Given the description of an element on the screen output the (x, y) to click on. 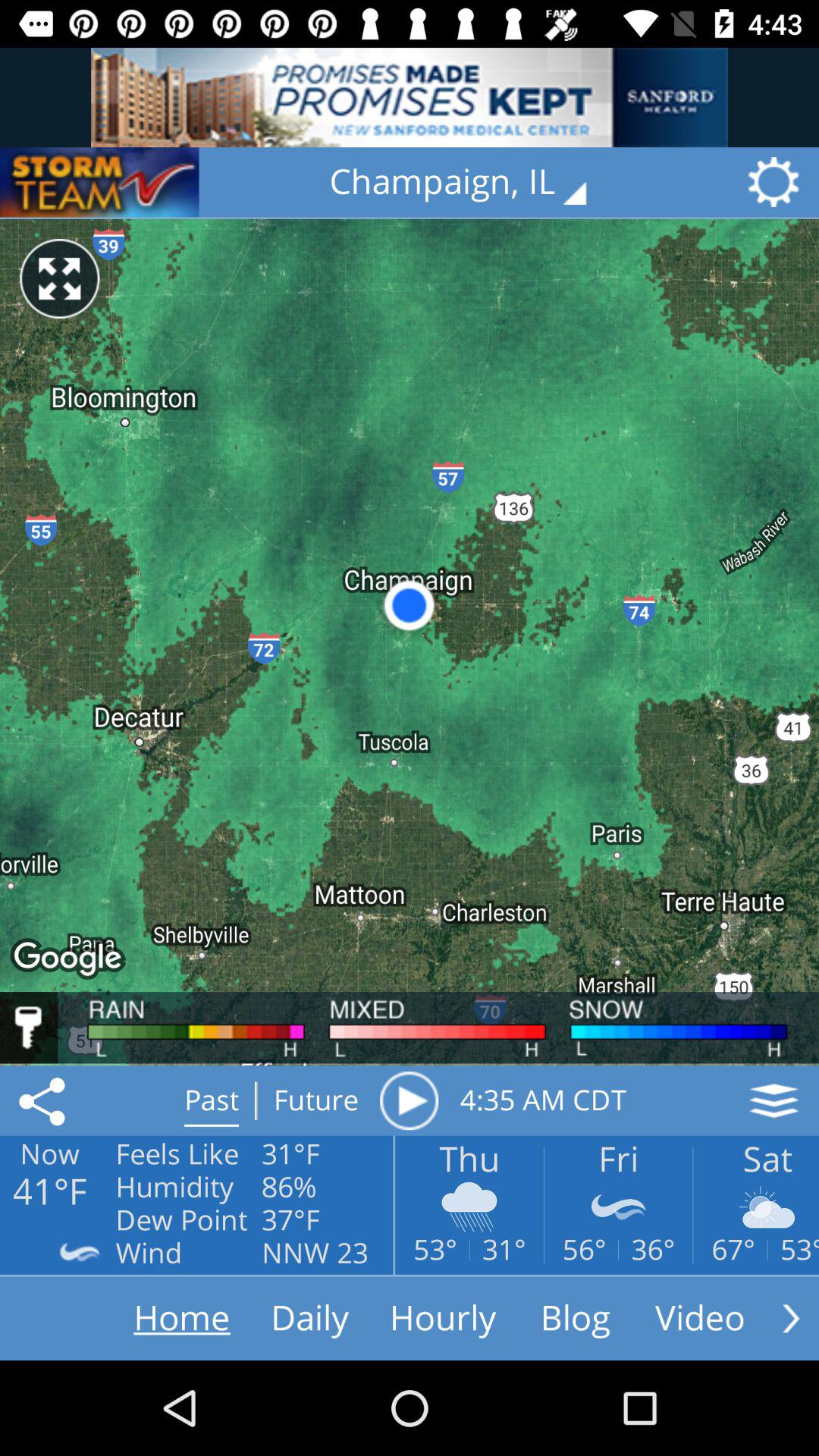
click on the icon blog (575, 1318)
select the icon fri (618, 1206)
select the text left to daily (153, 1318)
click on the symbol beside il (778, 181)
select the line which is between 56 and 36 (618, 1250)
